Given the description of an element on the screen output the (x, y) to click on. 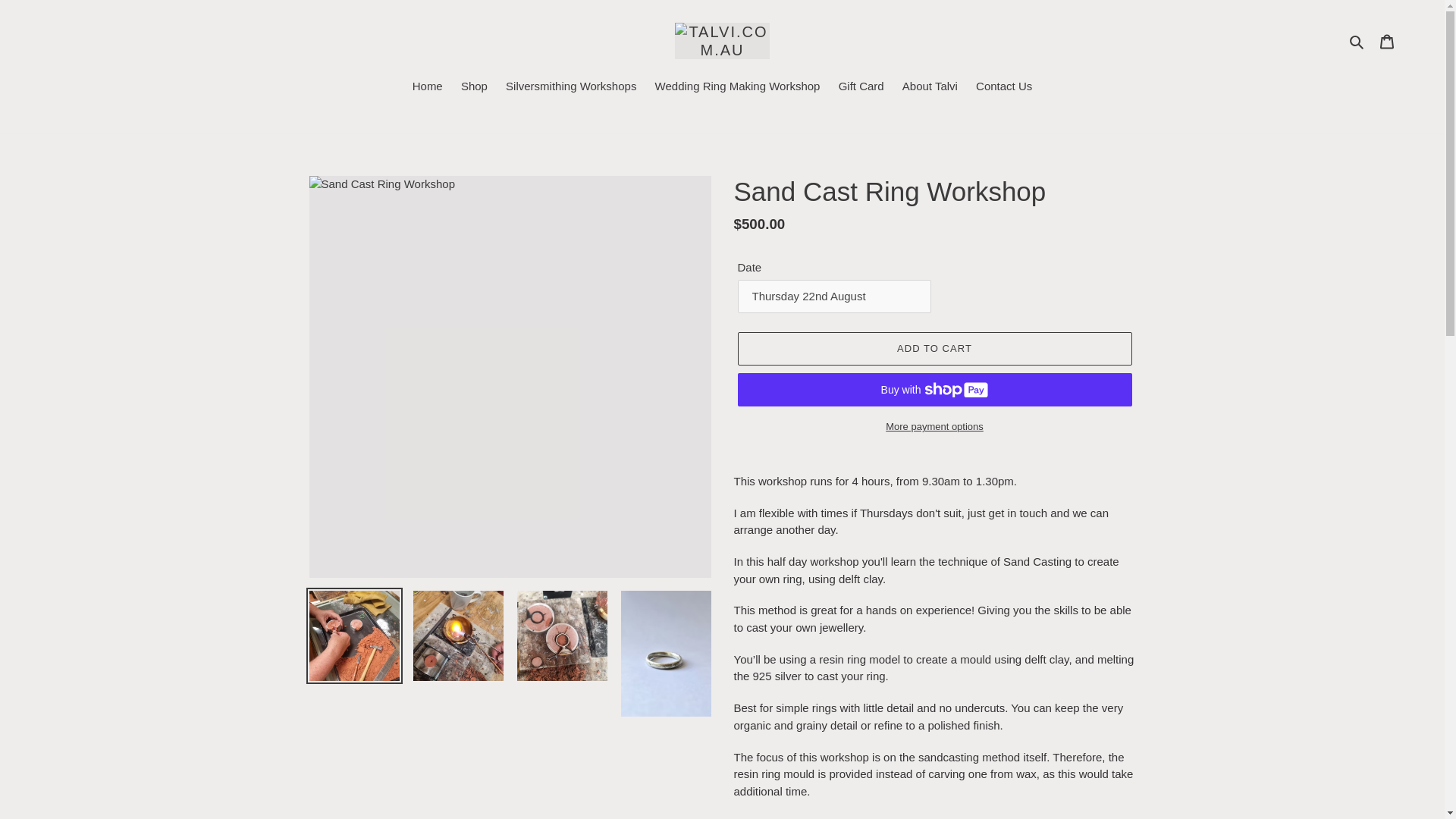
Shop (473, 87)
Contact Us (1003, 87)
Search (1357, 40)
About Talvi (930, 87)
Wedding Ring Making Workshop (737, 87)
More payment options (933, 426)
ADD TO CART (933, 348)
Home (426, 87)
Silversmithing Workshops (570, 87)
Gift Card (861, 87)
